Given the description of an element on the screen output the (x, y) to click on. 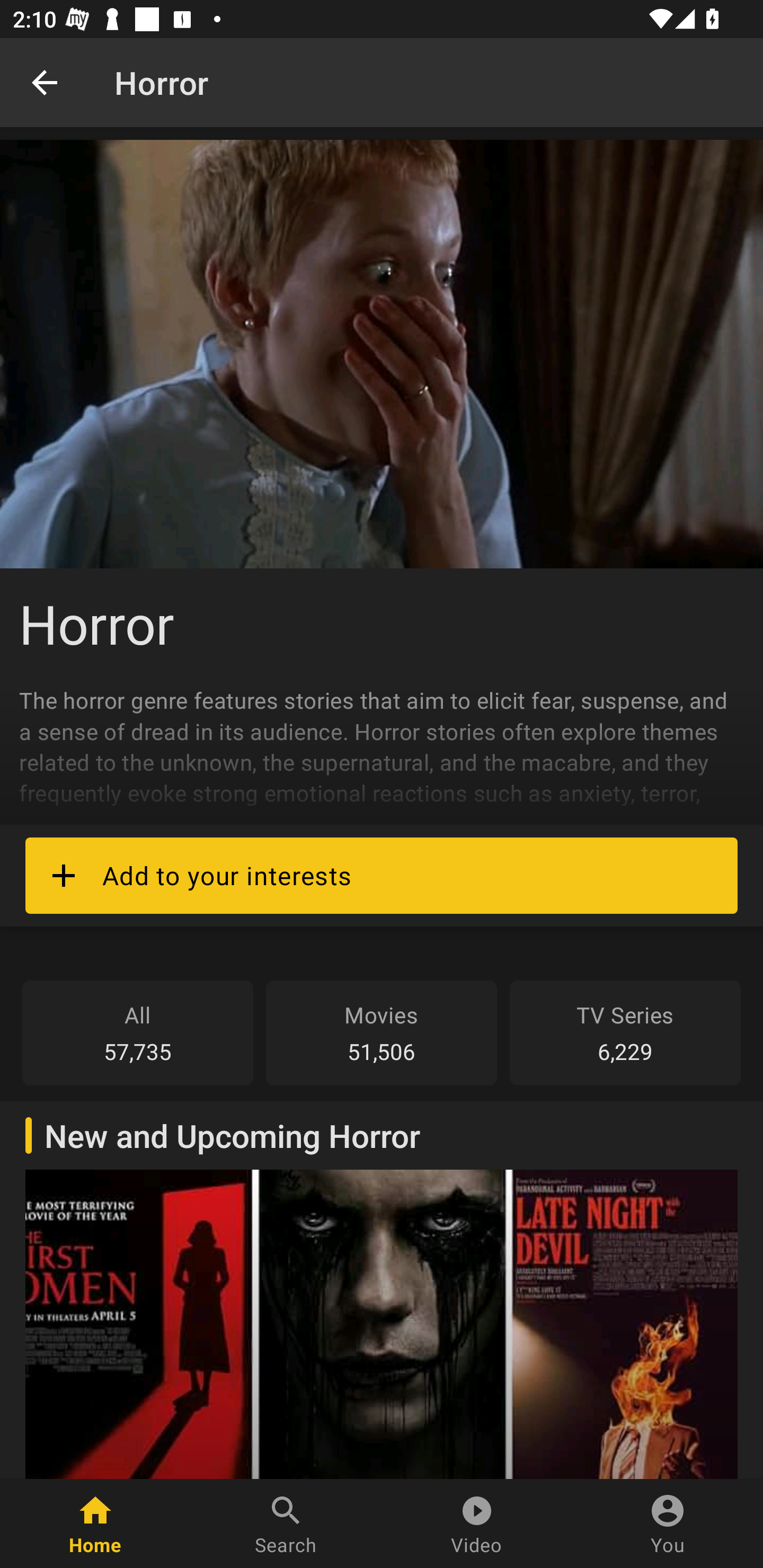
Add to your interests (381, 875)
All 57,735 (137, 1032)
Movies 51,506 (381, 1032)
TV Series 6,229 (624, 1032)
New and Upcoming Horror (381, 1289)
Search (285, 1523)
Video (476, 1523)
You (667, 1523)
